Given the description of an element on the screen output the (x, y) to click on. 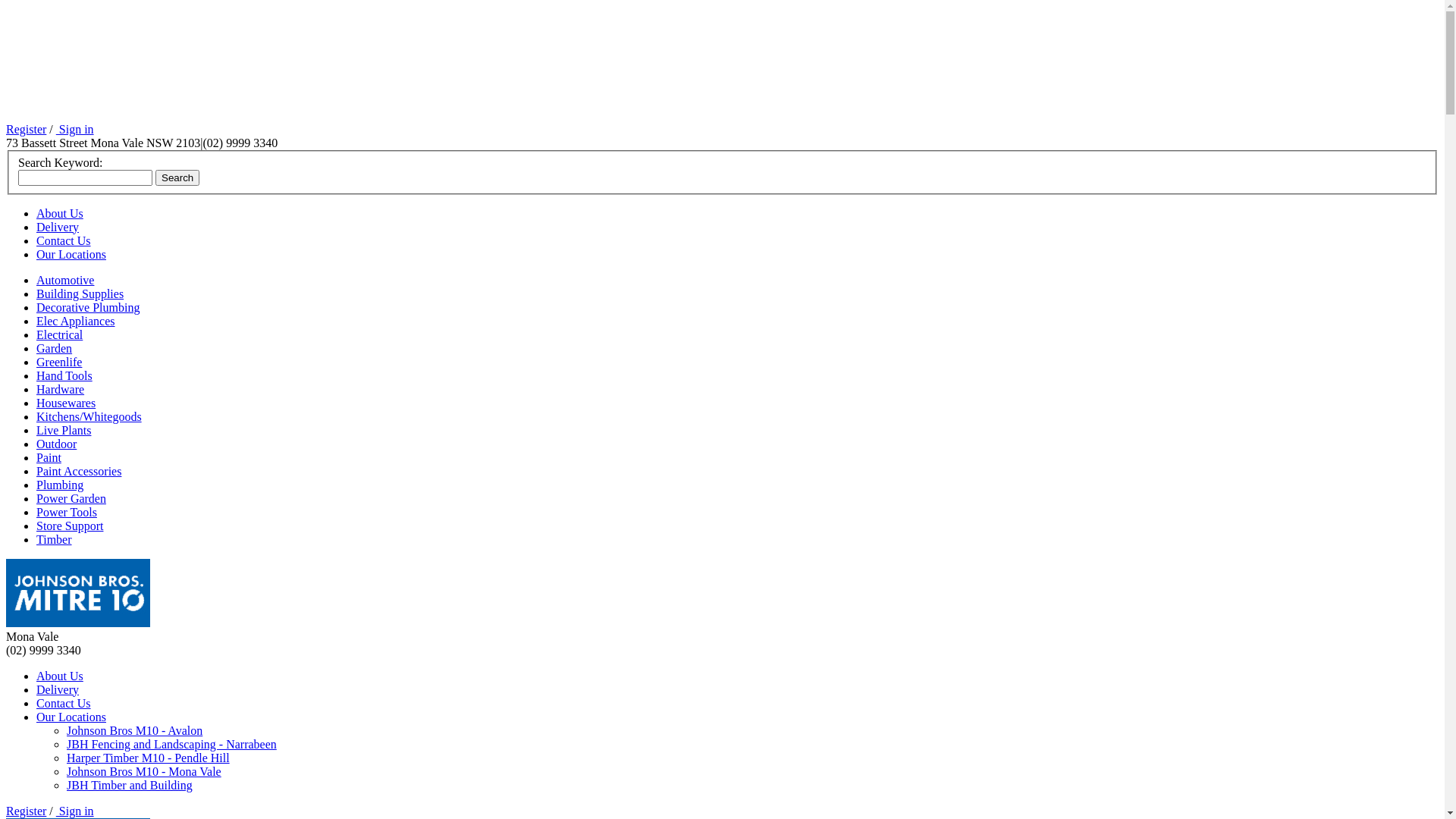
Housewares Element type: text (65, 402)
Johnson Bros M10 - Avalon Element type: text (134, 730)
Register Element type: text (26, 810)
JBH Timber and Building Element type: text (129, 784)
Power Tools Element type: text (66, 511)
Greenlife Element type: text (58, 361)
Johnson Bros M10 - Mona Vale Element type: text (143, 771)
Hand Tools Element type: text (64, 375)
About Us Element type: text (59, 213)
JBH Fencing and Landscaping - Narrabeen Element type: text (171, 743)
Plumbing Element type: text (59, 484)
Outdoor Element type: text (56, 443)
Store Support Element type: text (69, 525)
Decorative Plumbing Element type: text (87, 307)
Contact Us Element type: text (63, 240)
Contact Us Element type: text (63, 702)
Delivery Element type: text (57, 689)
About Us Element type: text (59, 675)
Delivery Element type: text (57, 226)
Kitchens/Whitegoods Element type: text (88, 416)
Automotive Element type: text (65, 279)
 Sign in Element type: text (75, 810)
Hardware Element type: text (60, 388)
Our Locations Element type: text (71, 716)
Paint Element type: text (48, 457)
Search Element type: text (177, 177)
Paint Accessories Element type: text (78, 470)
Electrical Element type: text (59, 334)
Our Locations Element type: text (71, 253)
Register Element type: text (26, 128)
Elec Appliances Element type: text (75, 320)
Timber Element type: text (54, 539)
Harper Timber M10 - Pendle Hill Element type: text (147, 757)
Power Garden Element type: text (71, 498)
Garden Element type: text (54, 348)
Building Supplies Element type: text (79, 293)
Live Plants Element type: text (63, 429)
 Sign in Element type: text (75, 128)
